Given the description of an element on the screen output the (x, y) to click on. 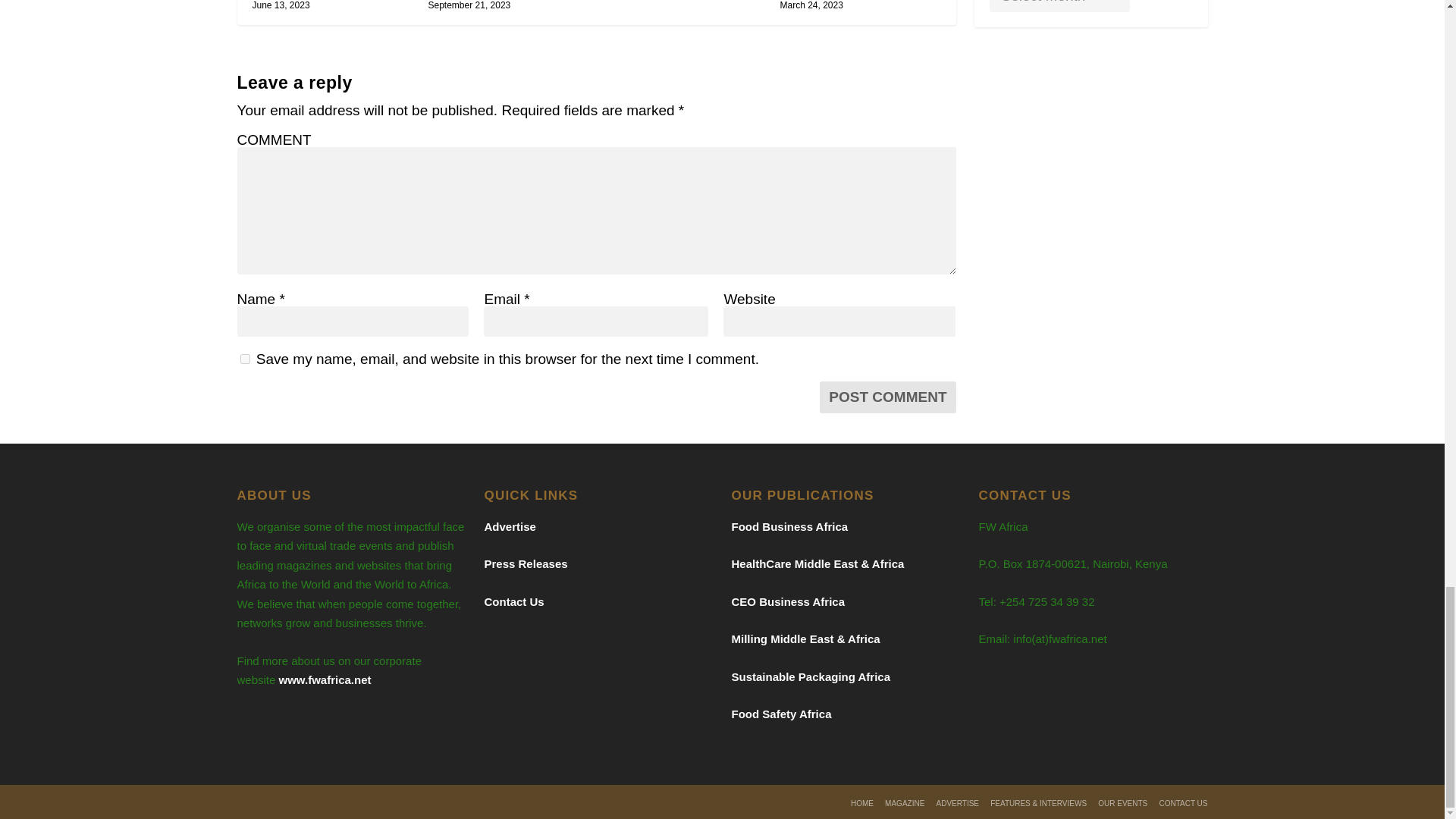
Post Comment (887, 396)
yes (244, 357)
